Given the description of an element on the screen output the (x, y) to click on. 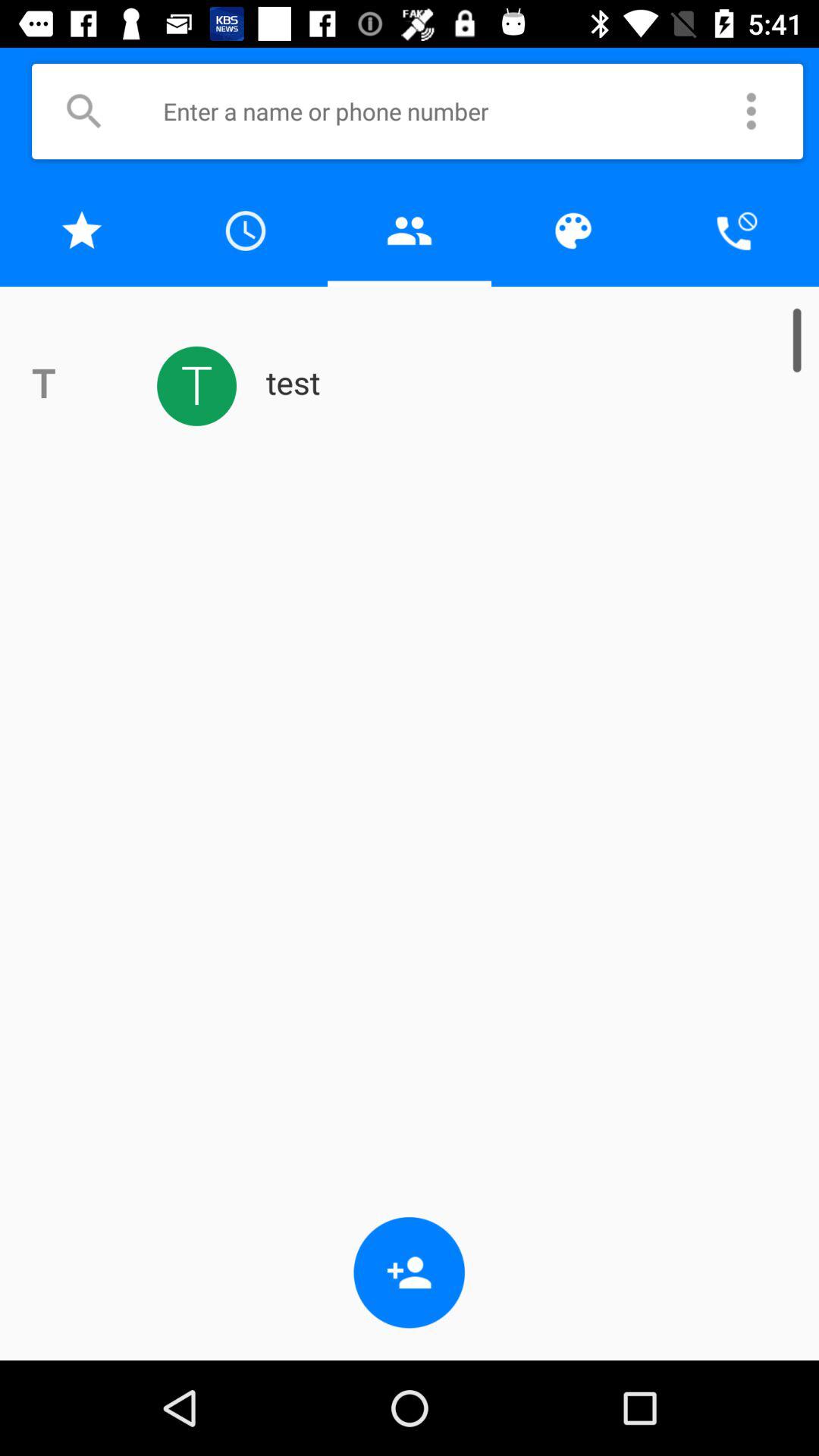
add to favorites (81, 230)
